Given the description of an element on the screen output the (x, y) to click on. 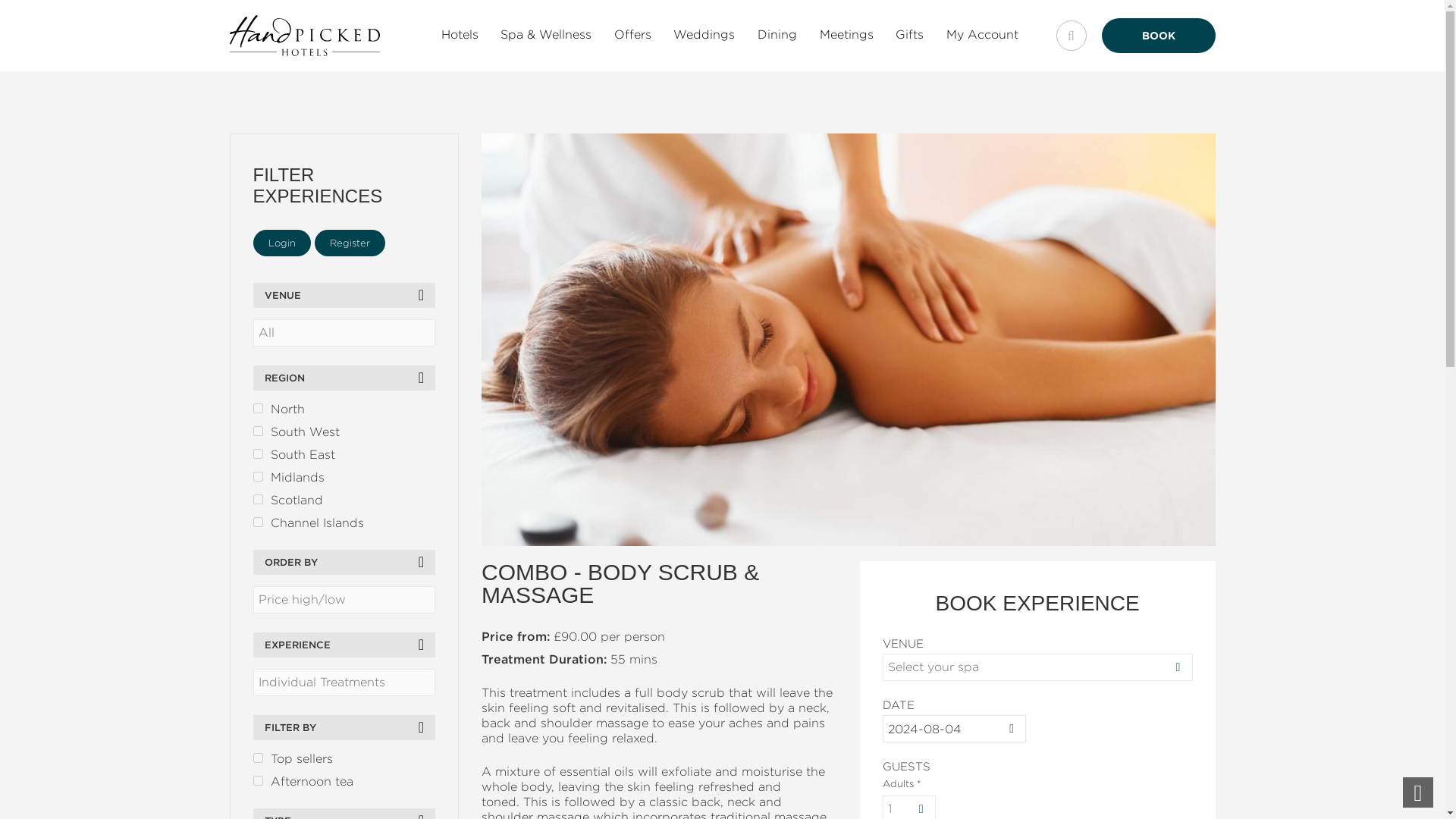
2024-08-04 (954, 728)
Back to top (1417, 792)
Top-sellers (258, 757)
Afternoon-tea (258, 780)
north-wales (258, 408)
south-east (258, 453)
midlands (258, 476)
scotland (258, 499)
south-west (258, 430)
channel-islands (258, 521)
